Given the description of an element on the screen output the (x, y) to click on. 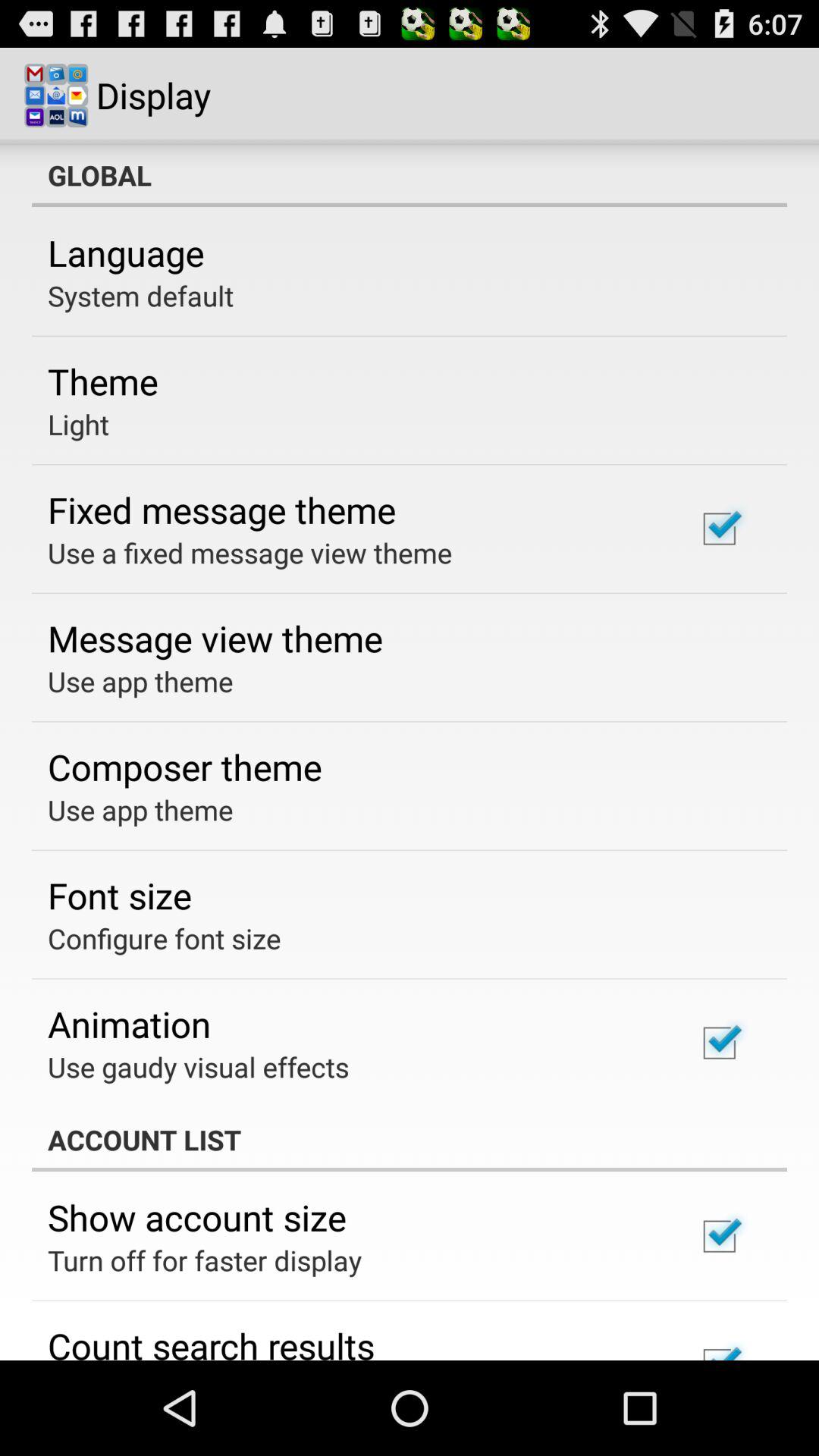
jump until animation app (129, 1023)
